Given the description of an element on the screen output the (x, y) to click on. 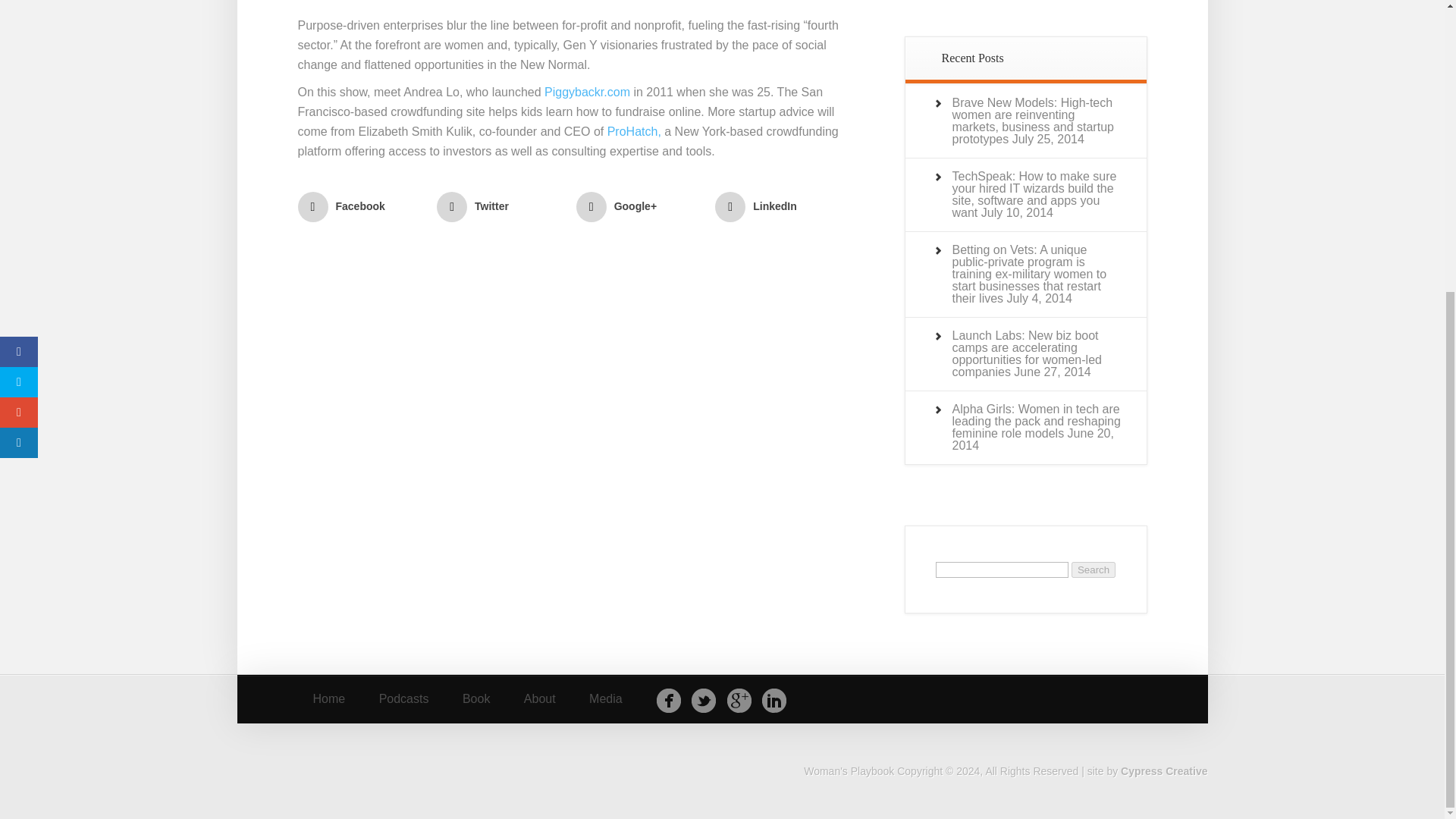
Search (1093, 569)
Facebook (361, 206)
Piggybackr.com (328, 698)
LinkedIn (587, 91)
